Given the description of an element on the screen output the (x, y) to click on. 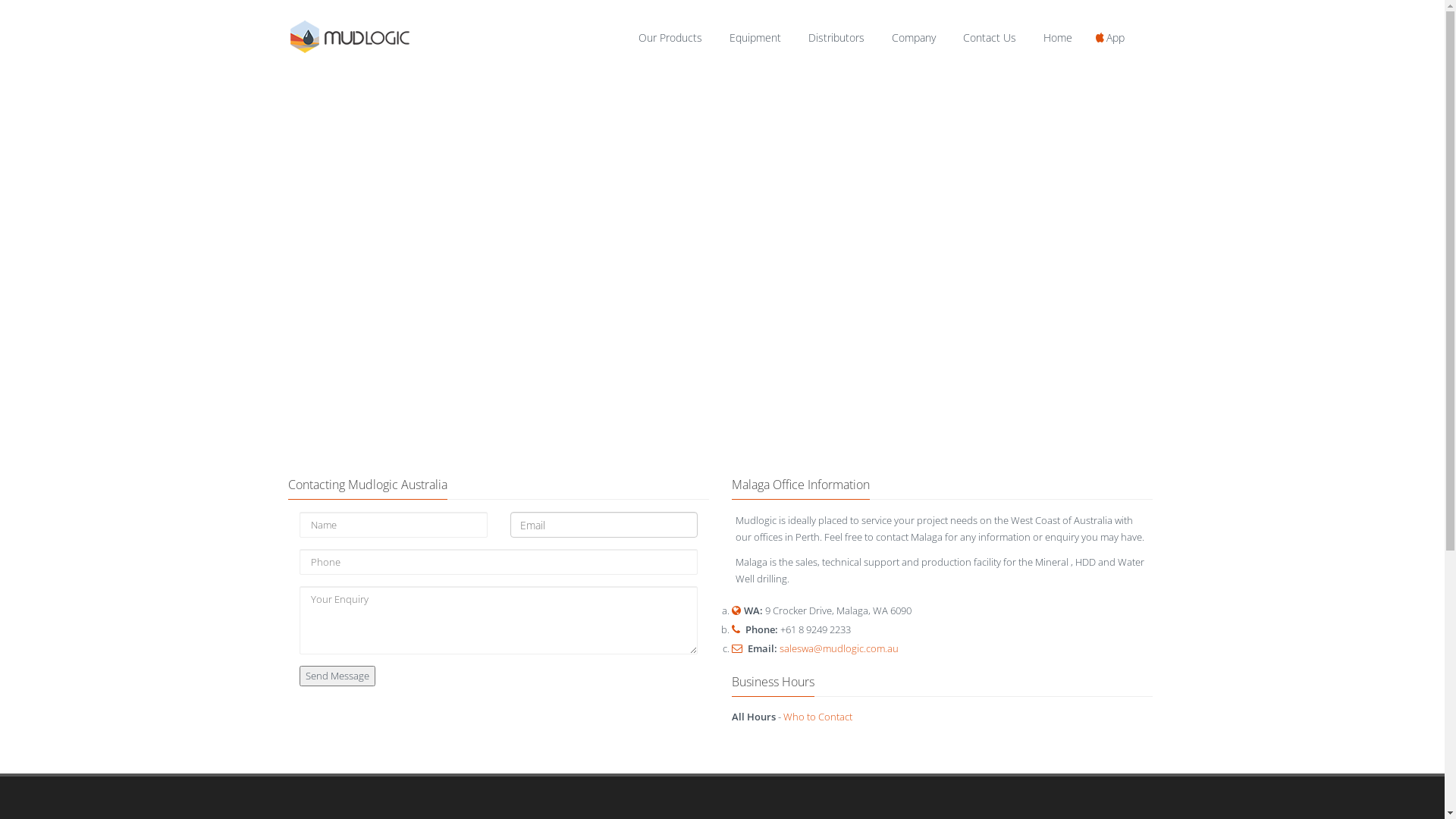
App Element type: text (1111, 39)
Send Message Element type: text (337, 675)
Who to Contact Element type: text (817, 716)
Our Products Element type: text (669, 39)
saleswa@mudlogic.com.au Element type: text (838, 648)
Equipment Element type: text (754, 39)
Home Element type: text (1056, 39)
Distributors Element type: text (835, 39)
Company Element type: text (912, 39)
Contact Us Element type: text (988, 39)
